Given the description of an element on the screen output the (x, y) to click on. 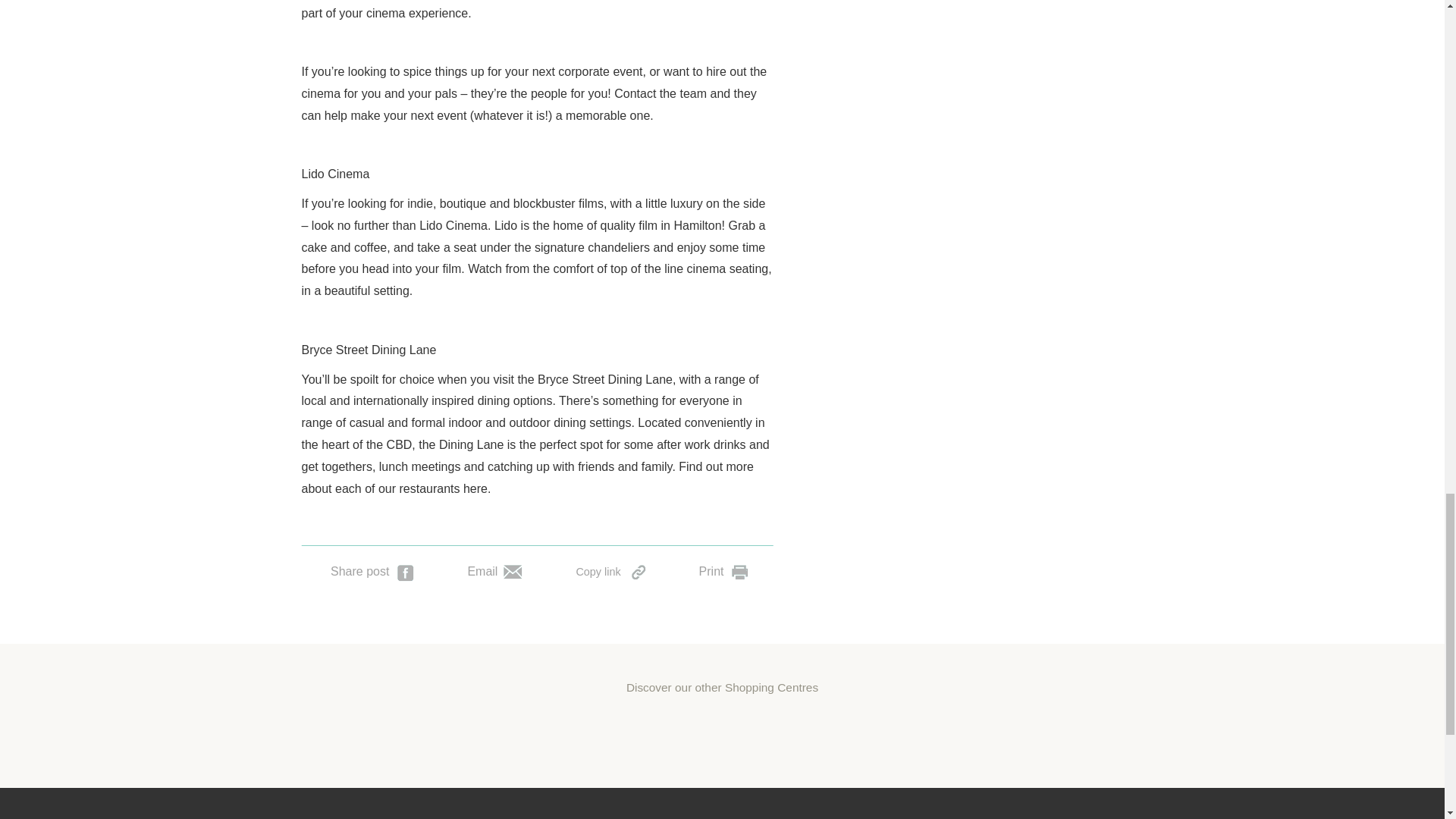
Visit the LynnMall website (607, 732)
Visit the The Plaza website (836, 732)
Copy link (610, 569)
Print (723, 569)
Email (494, 569)
Visit the Northlands website (951, 732)
Visit the The Base website (722, 732)
Share post (371, 569)
Visit the Sylvia Park website (491, 732)
